Given the description of an element on the screen output the (x, y) to click on. 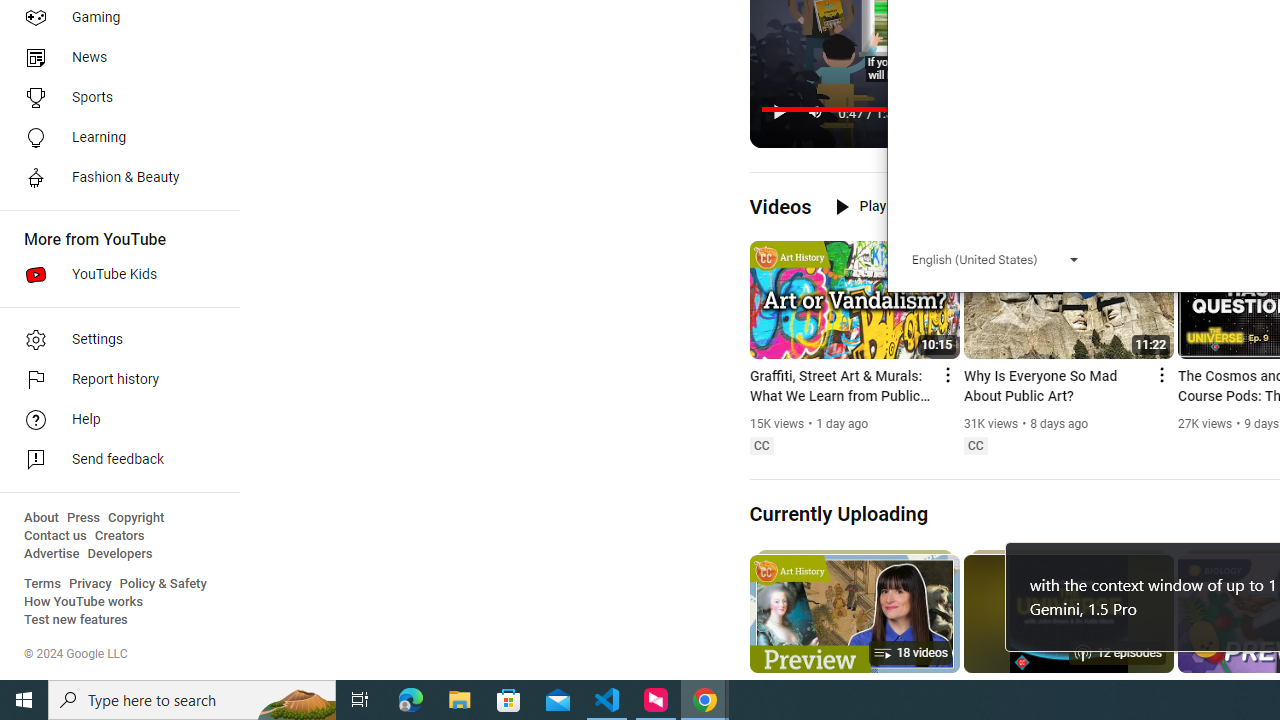
File Explorer (460, 699)
Settings (113, 339)
Microsoft Store (509, 699)
Mute (m) (815, 112)
Test new features (76, 620)
Visual Studio Code - 1 running window (607, 699)
Action menu (1160, 374)
Task View (359, 699)
Pause (k) (779, 112)
Policy & Safety (163, 584)
Privacy (89, 584)
Microsoft Edge (411, 699)
English (United States) (995, 259)
